Given the description of an element on the screen output the (x, y) to click on. 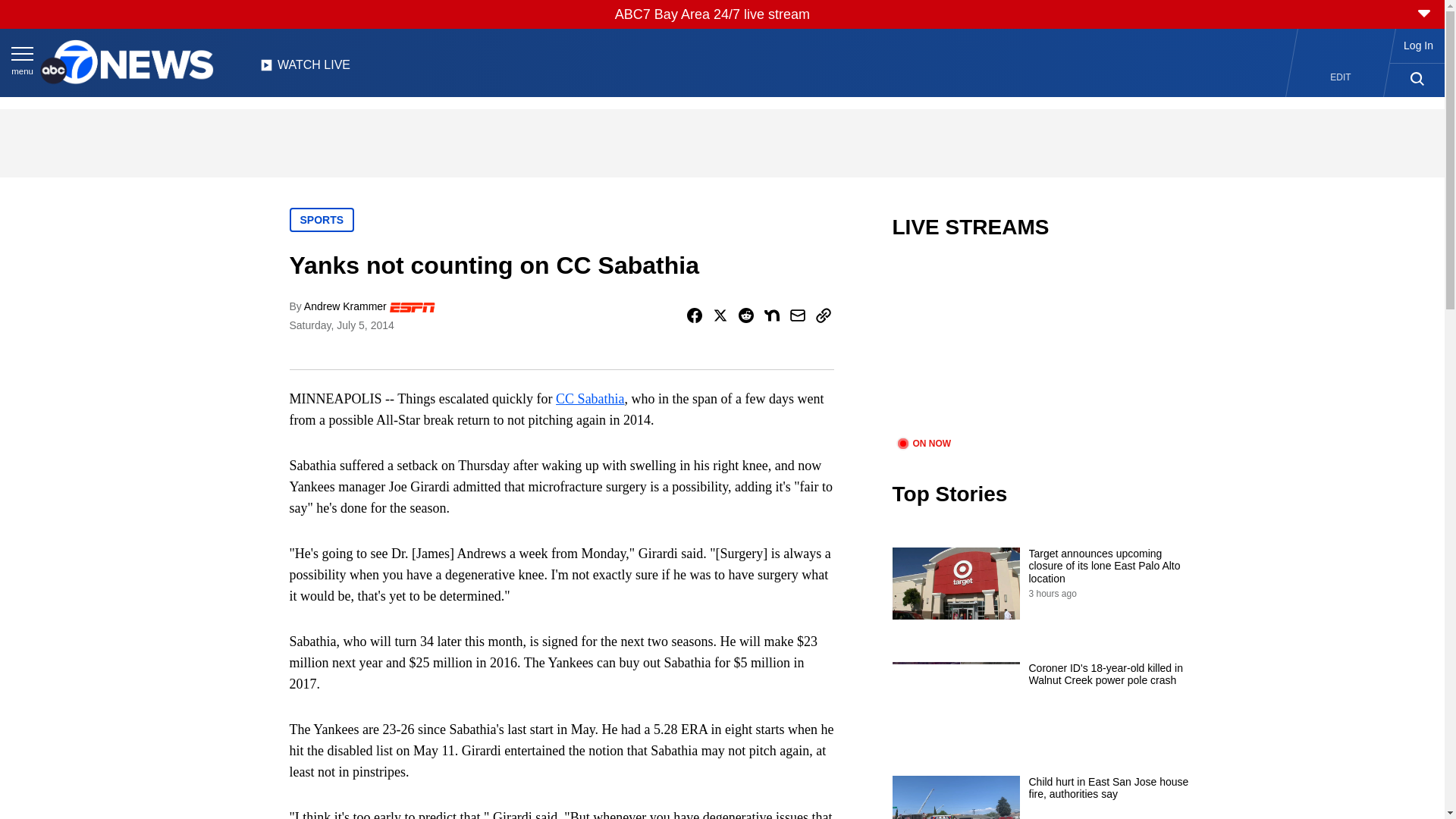
EDIT (1340, 77)
WATCH LIVE (305, 69)
video.title (1043, 347)
